Given the description of an element on the screen output the (x, y) to click on. 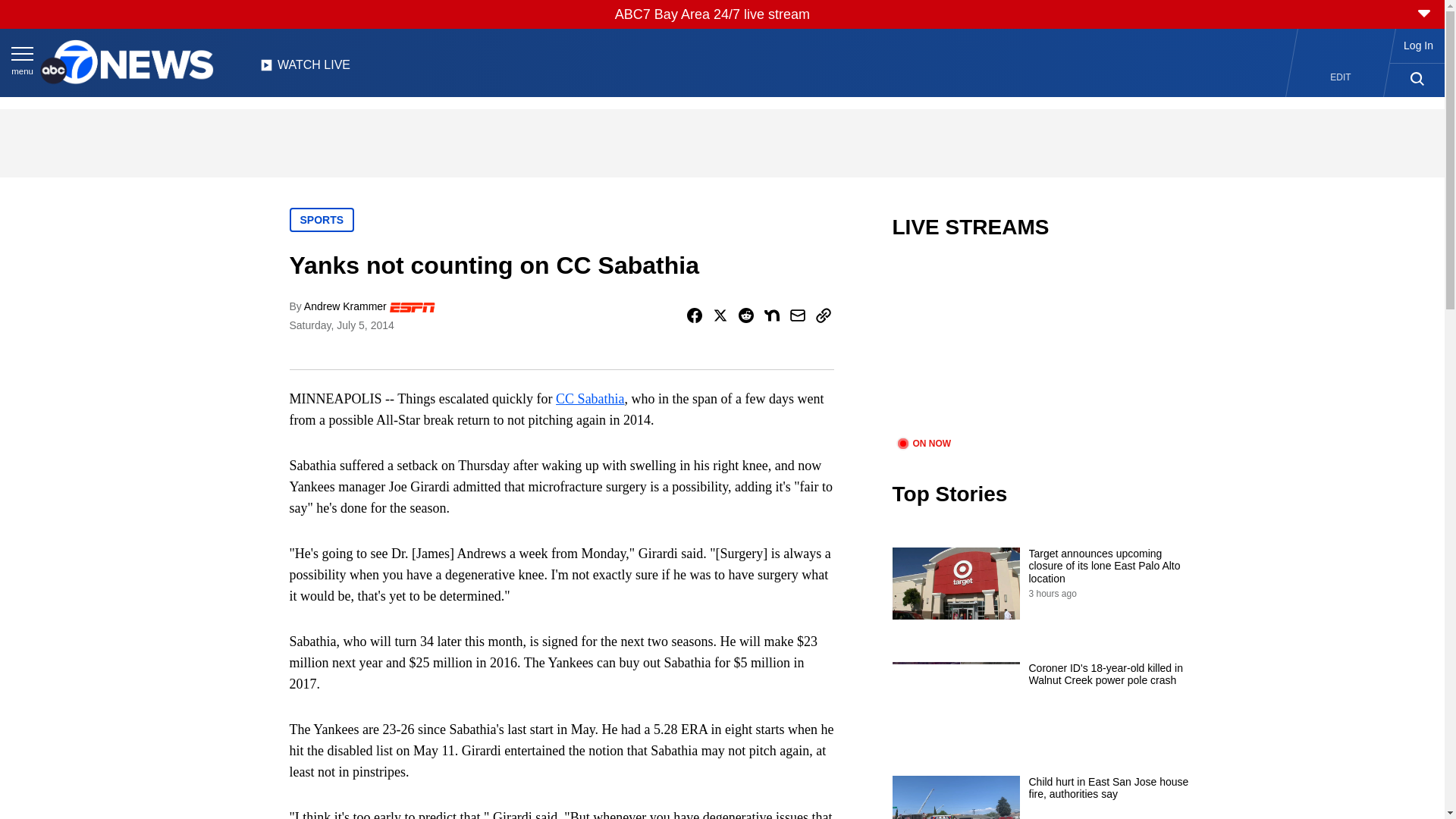
EDIT (1340, 77)
WATCH LIVE (305, 69)
video.title (1043, 347)
